Given the description of an element on the screen output the (x, y) to click on. 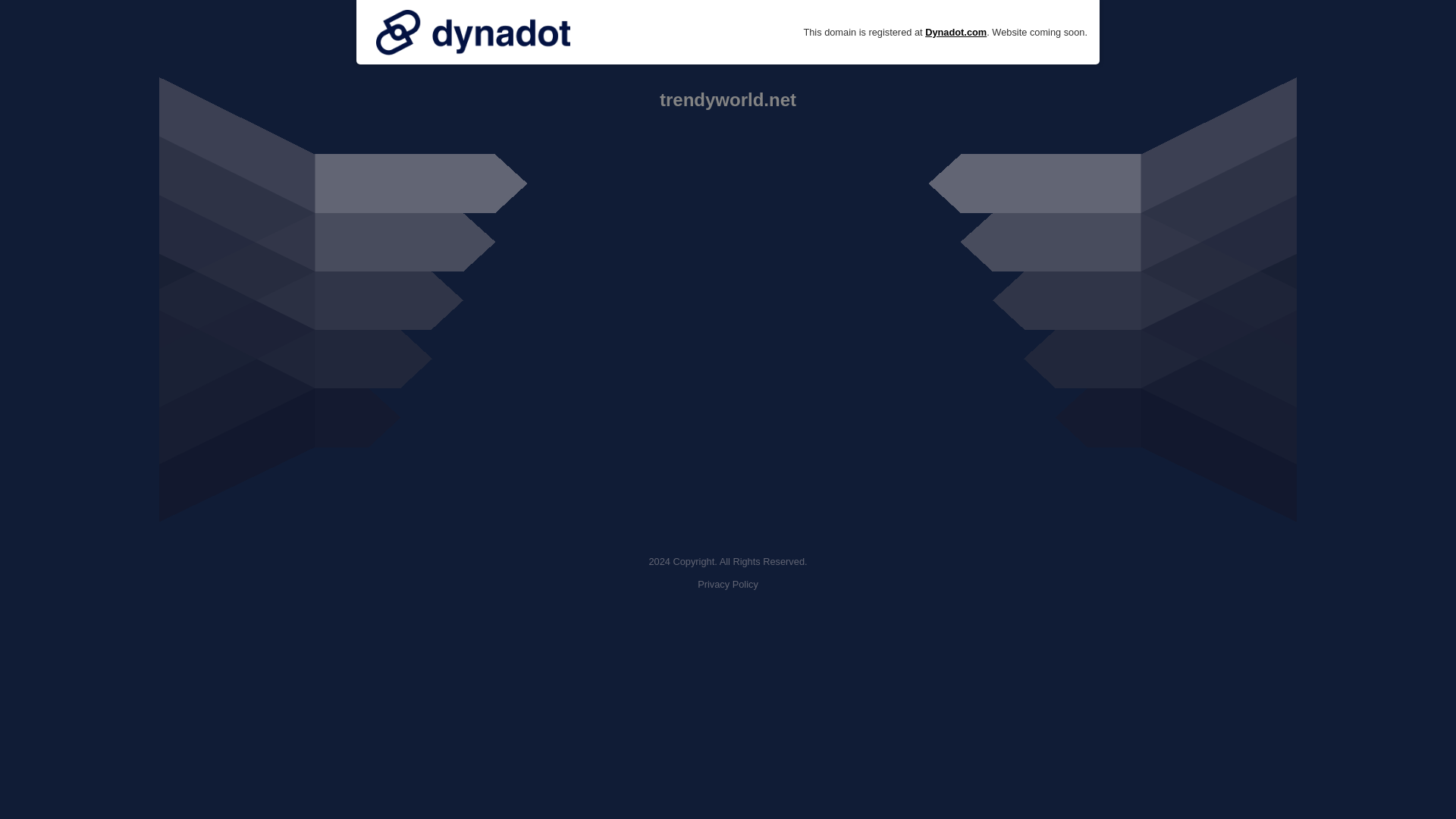
Domain managed at Dynadot.com (473, 31)
Privacy Policy (727, 583)
Dynadot.com (955, 31)
